Given the description of an element on the screen output the (x, y) to click on. 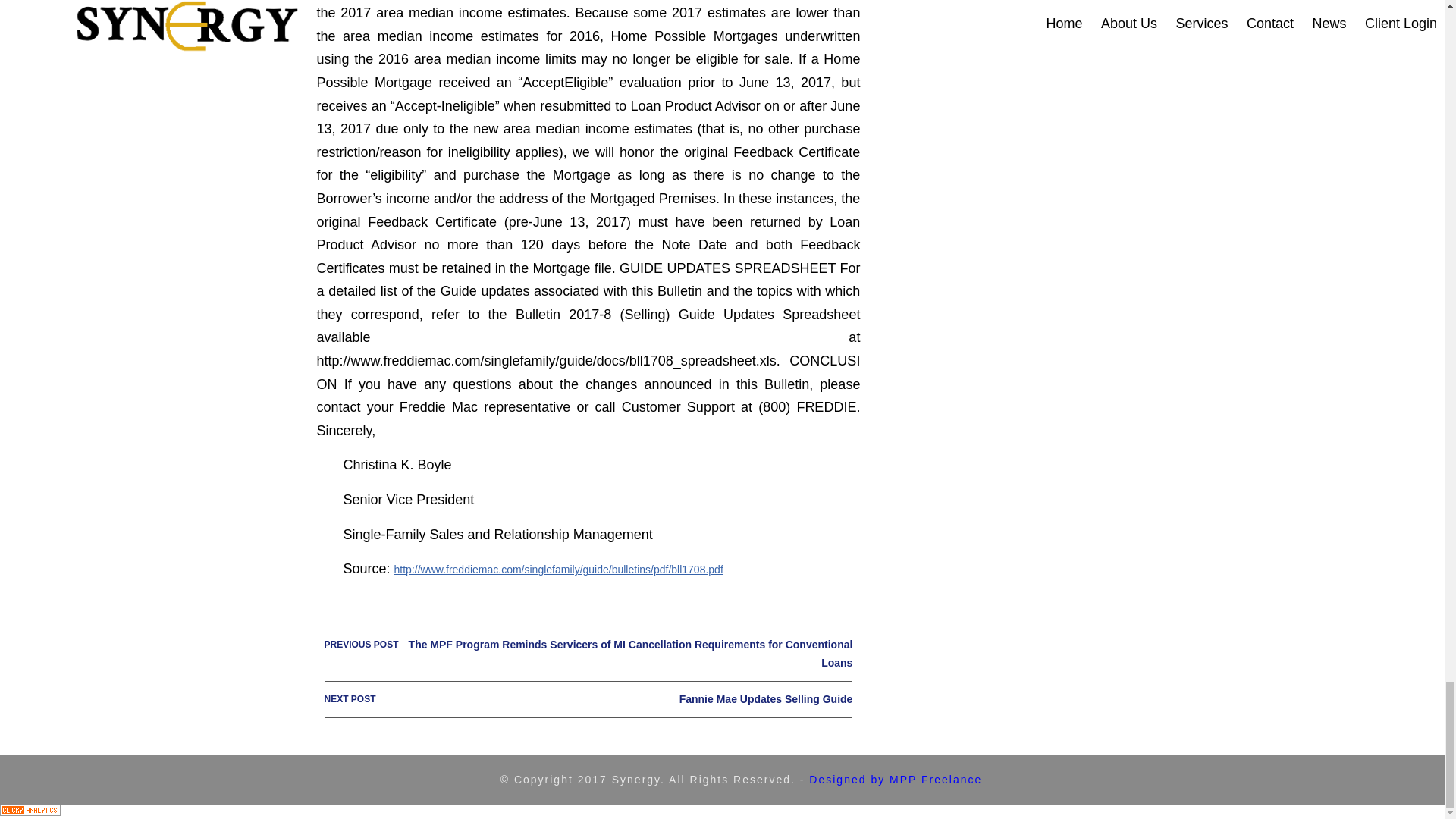
Designed by MPP Freelance (895, 779)
Web Statistics (30, 811)
